Given the description of an element on the screen output the (x, y) to click on. 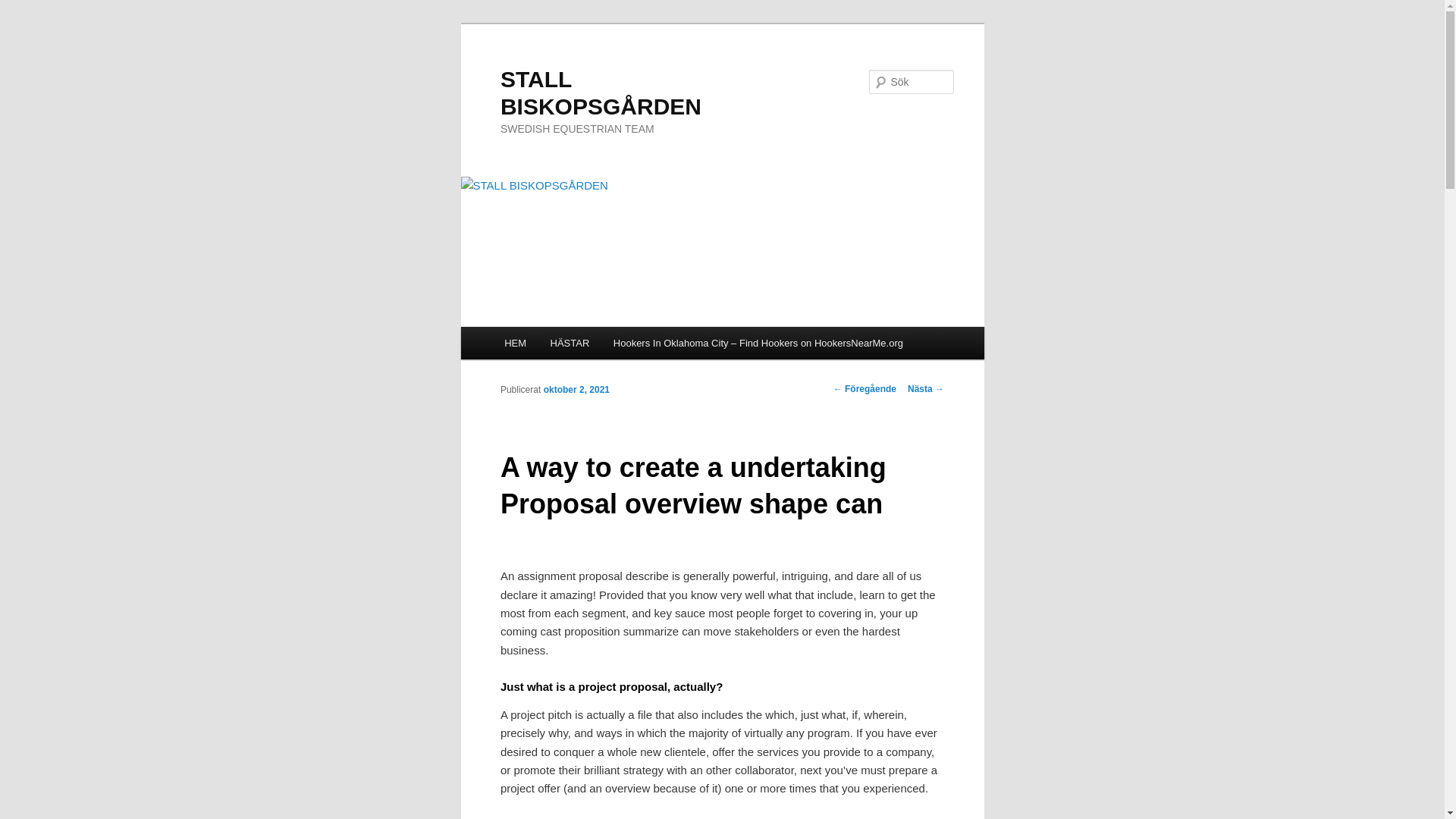
HEM (514, 342)
oktober 2, 2021 (576, 388)
12:00 f m (576, 388)
